Given the description of an element on the screen output the (x, y) to click on. 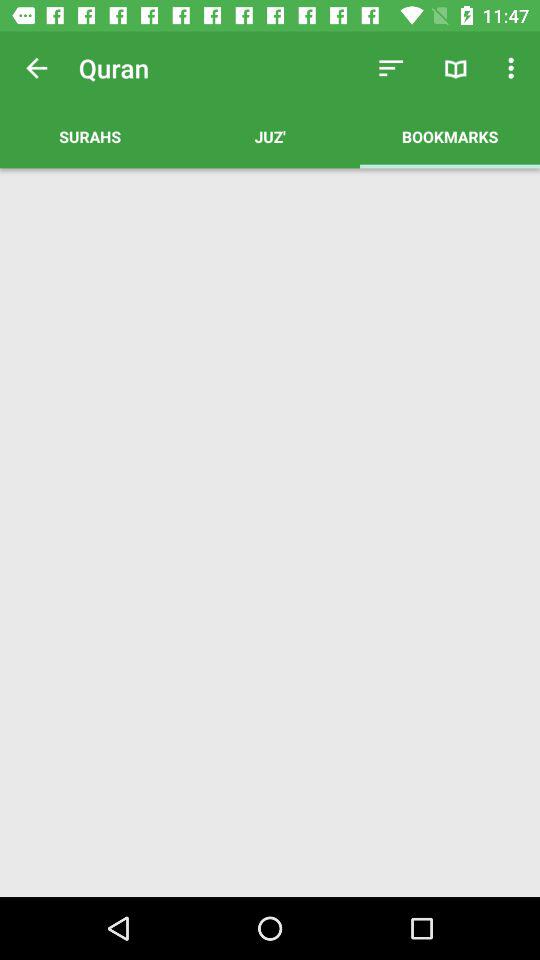
open the item to the left of bookmarks item (270, 136)
